Given the description of an element on the screen output the (x, y) to click on. 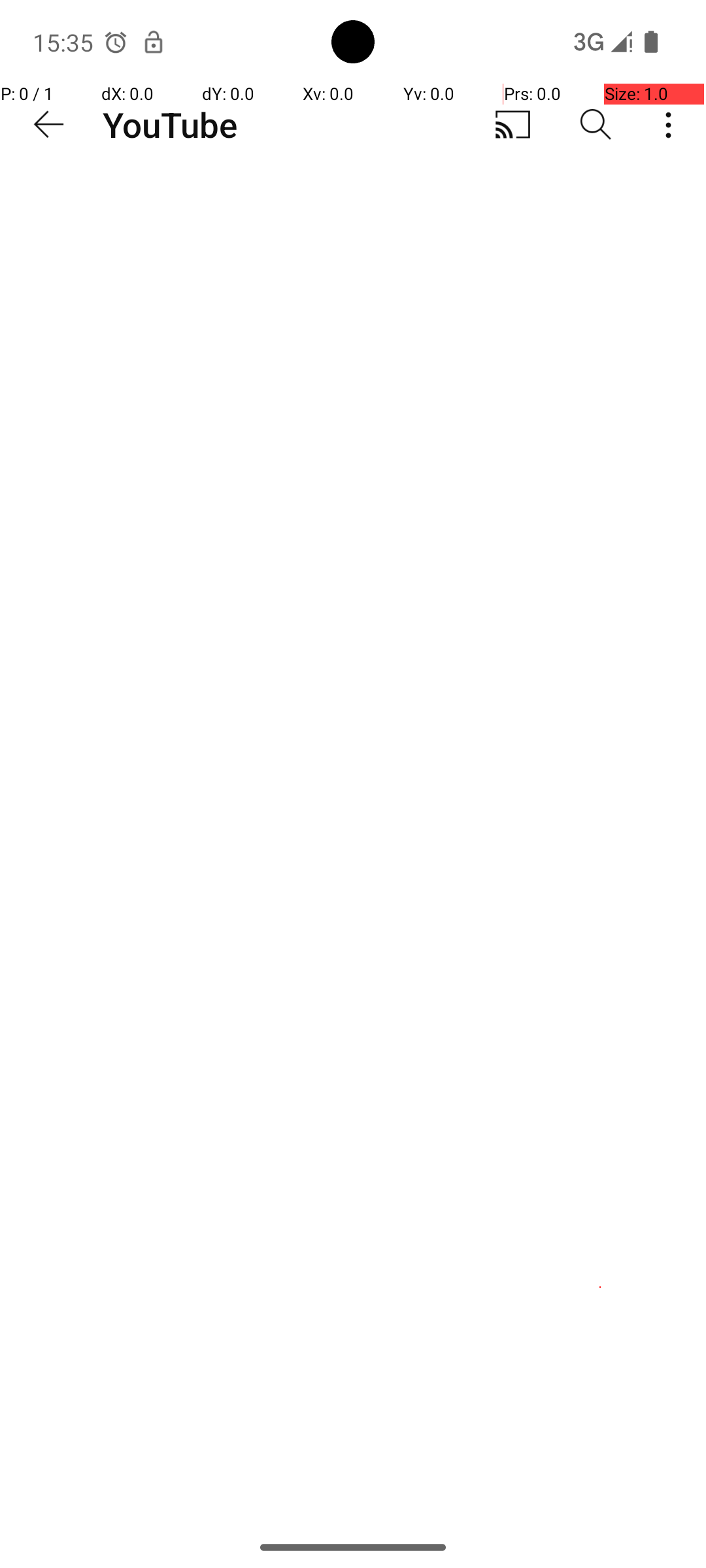
Cast. Disconnected Element type: android.view.View (512, 124)
